Given the description of an element on the screen output the (x, y) to click on. 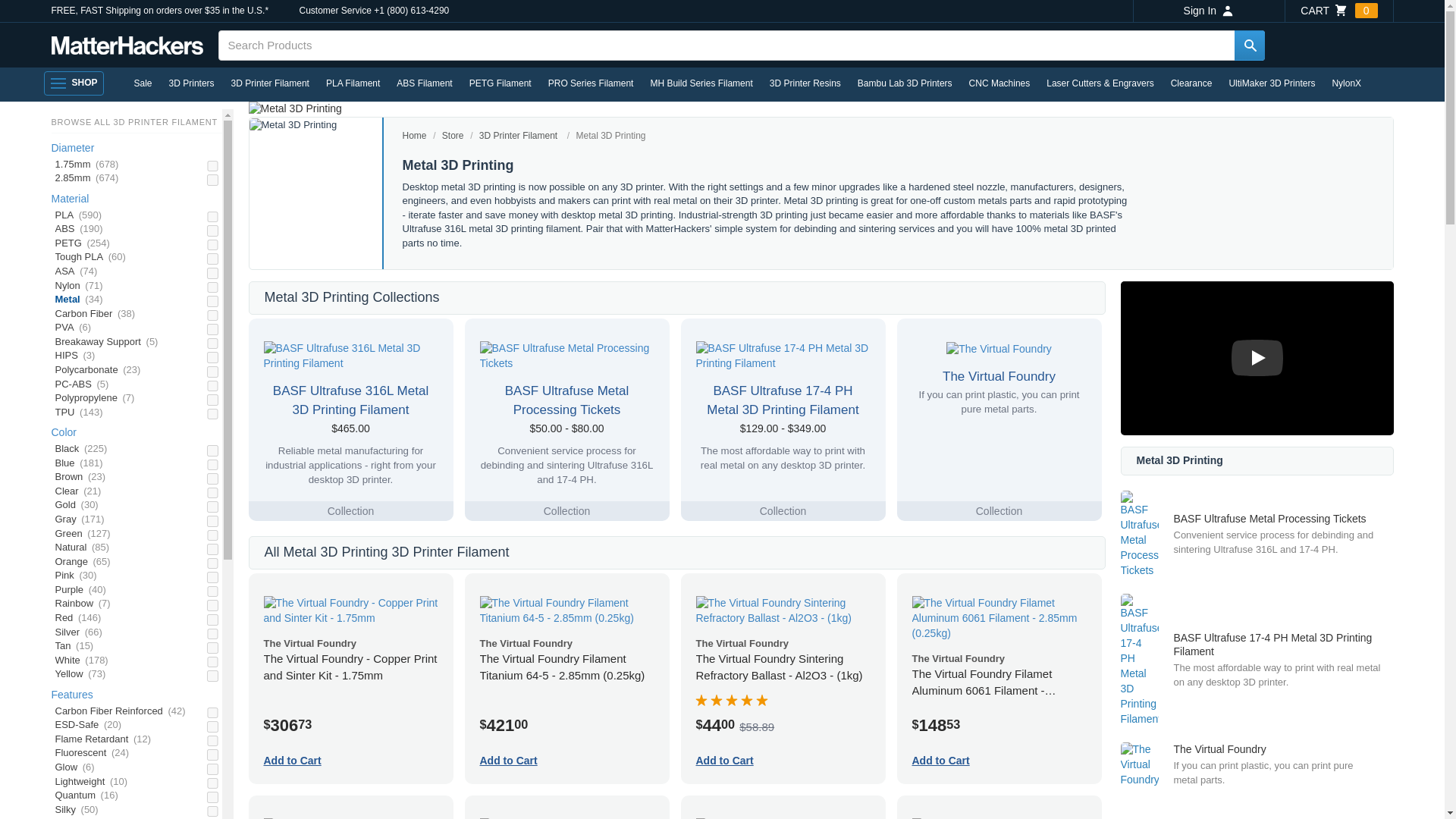
BASF Ultrafuse 17-4 PH Metal 3D Printing Filament (782, 356)
Metal 3D Printing (295, 109)
MatterHackers (126, 45)
Metal 3D Printing (292, 124)
The Virtual Foundry (998, 349)
